Given the description of an element on the screen output the (x, y) to click on. 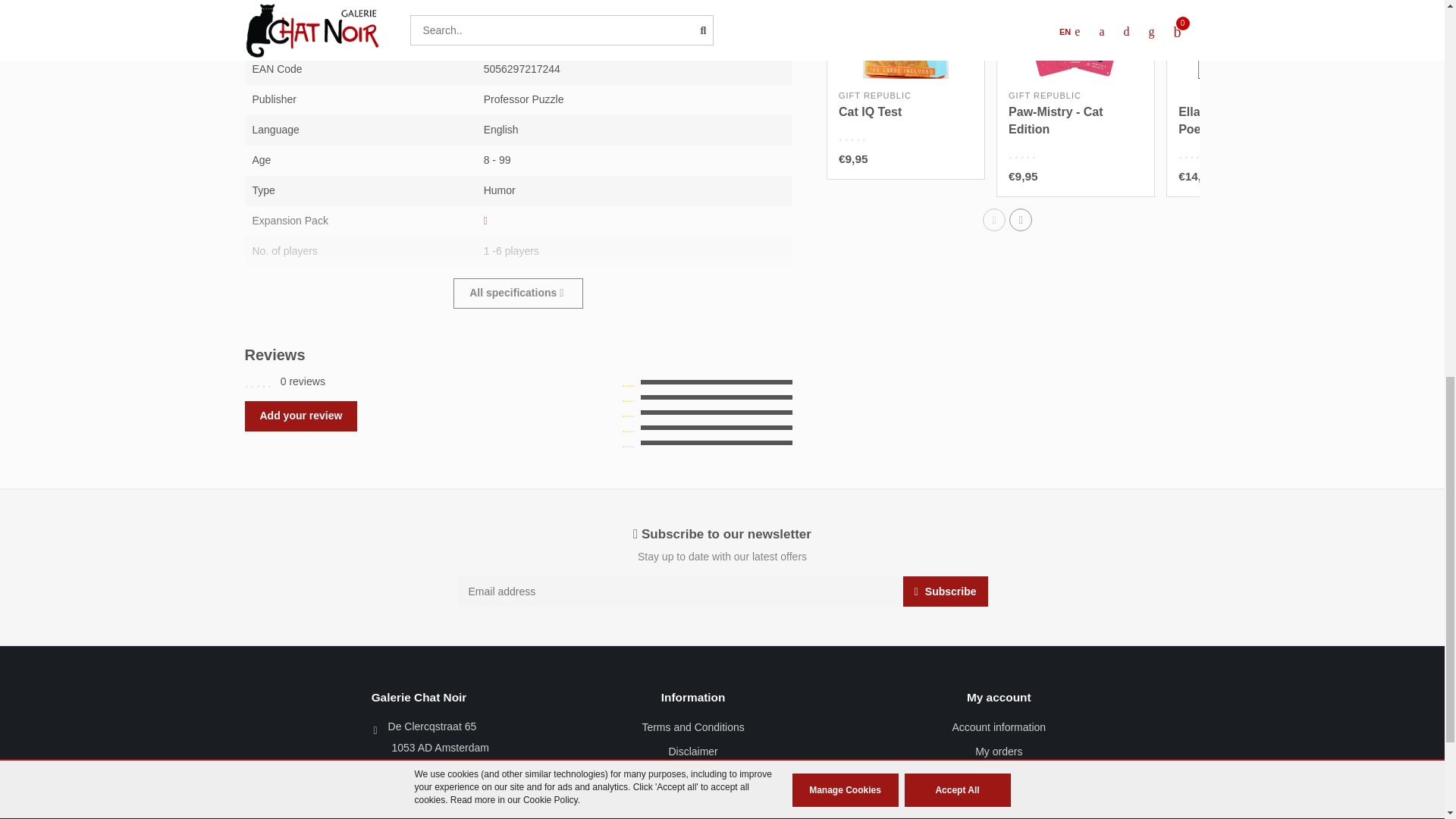
Ella van Schaik - Poezenkwartet (1225, 120)
Gift Republic Cat IQ Test (869, 111)
Ella van Schaik - Poezenkwartet (1245, 39)
Cat IQ Test (869, 111)
Add your review (300, 416)
Gift Republic Paw-Mistry - Cat Edition (1075, 39)
Gift Republic Cat IQ Test (905, 39)
All specifications (517, 293)
Gift Republic Paw-Mistry - Cat Edition (1055, 120)
